Given the description of an element on the screen output the (x, y) to click on. 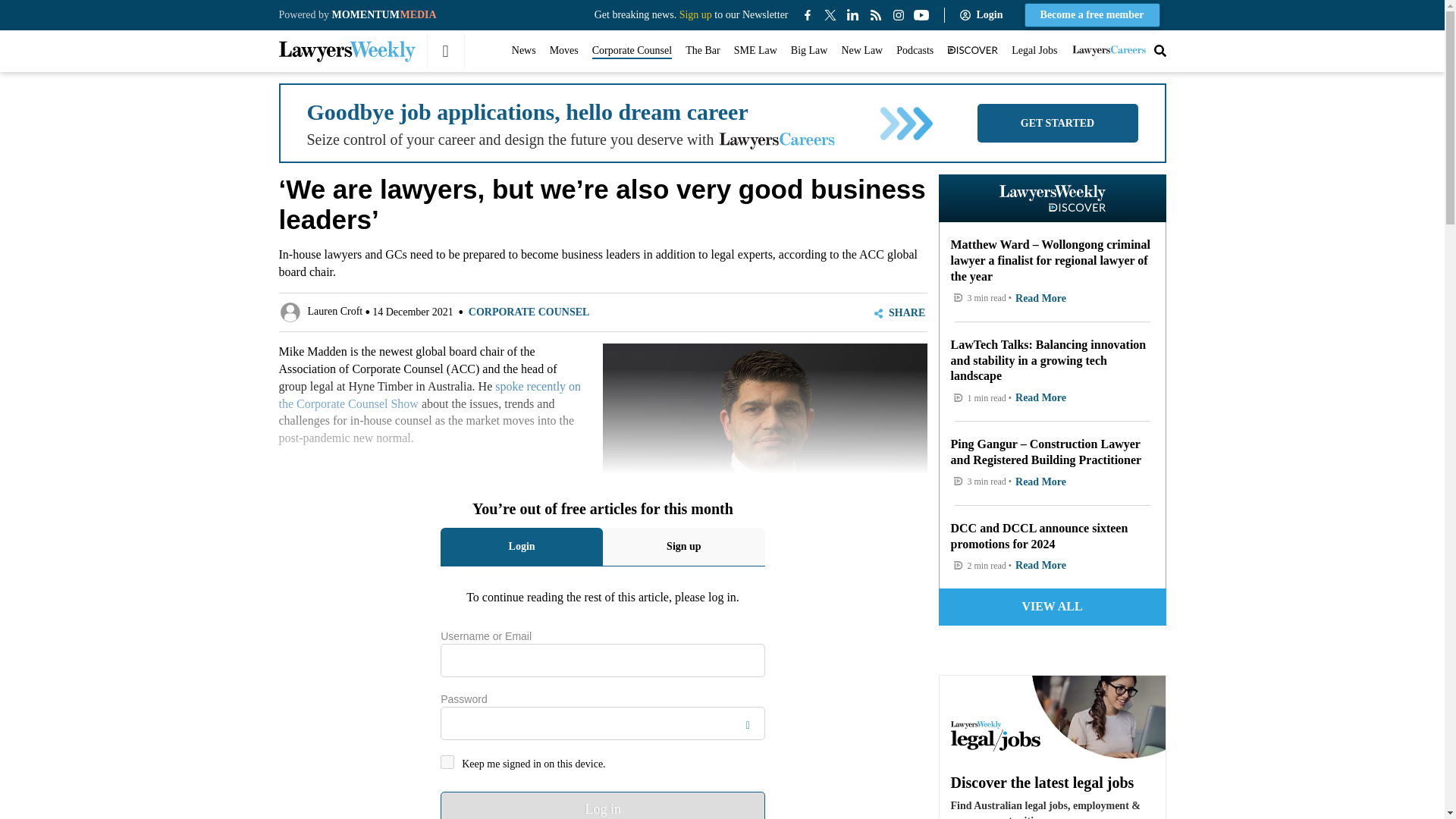
on (447, 762)
Sign up (695, 14)
Become a free member (1092, 15)
Log in (603, 805)
MOMENTUM MEDIA (383, 14)
